Given the description of an element on the screen output the (x, y) to click on. 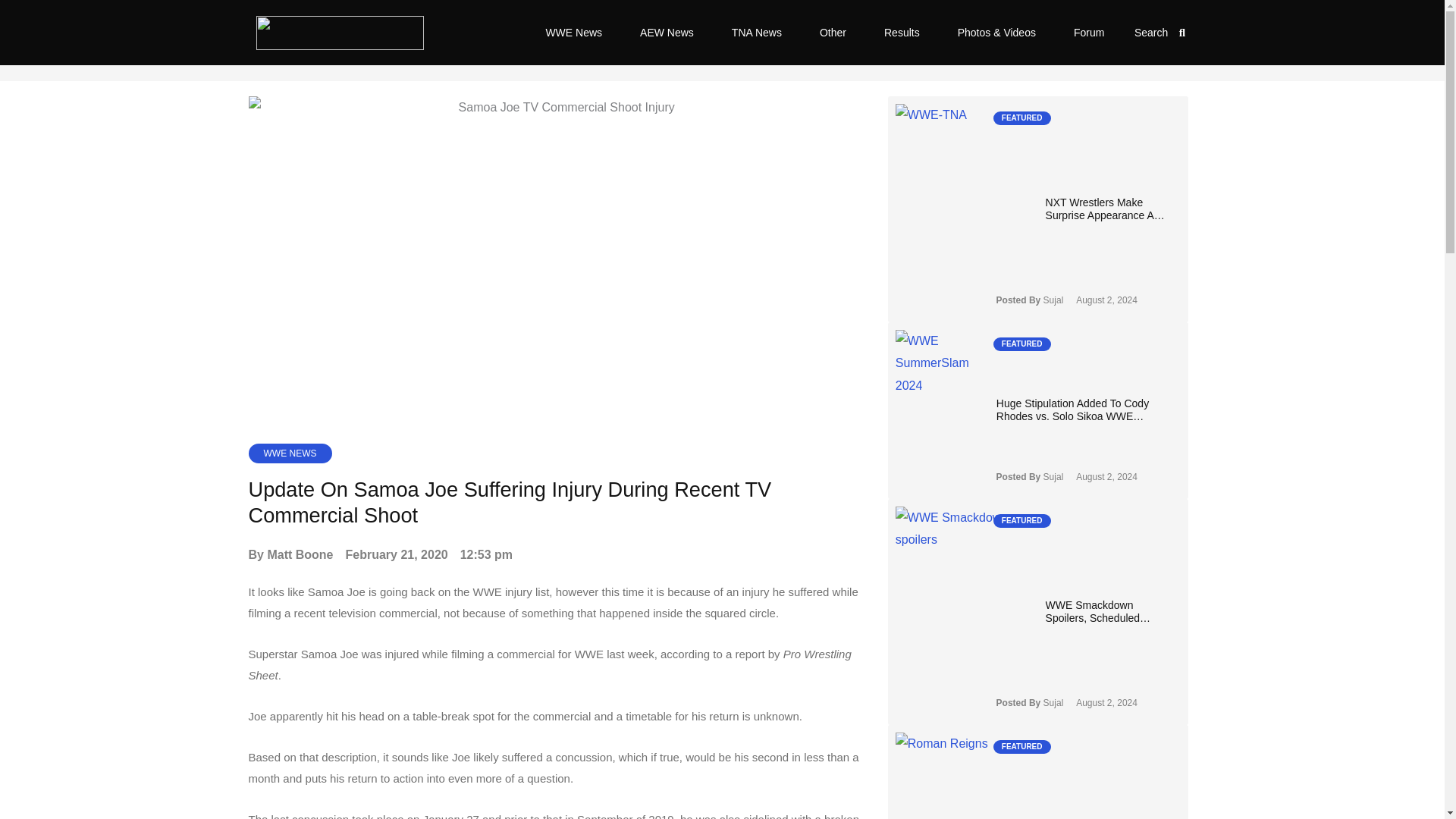
By Matt Boone (290, 554)
February 21, 2020 (397, 554)
TNA News (756, 32)
AEW News (667, 32)
Forum (1088, 32)
Other (832, 32)
WWE NEWS (289, 453)
WWE News (573, 32)
Results (901, 32)
